Given the description of an element on the screen output the (x, y) to click on. 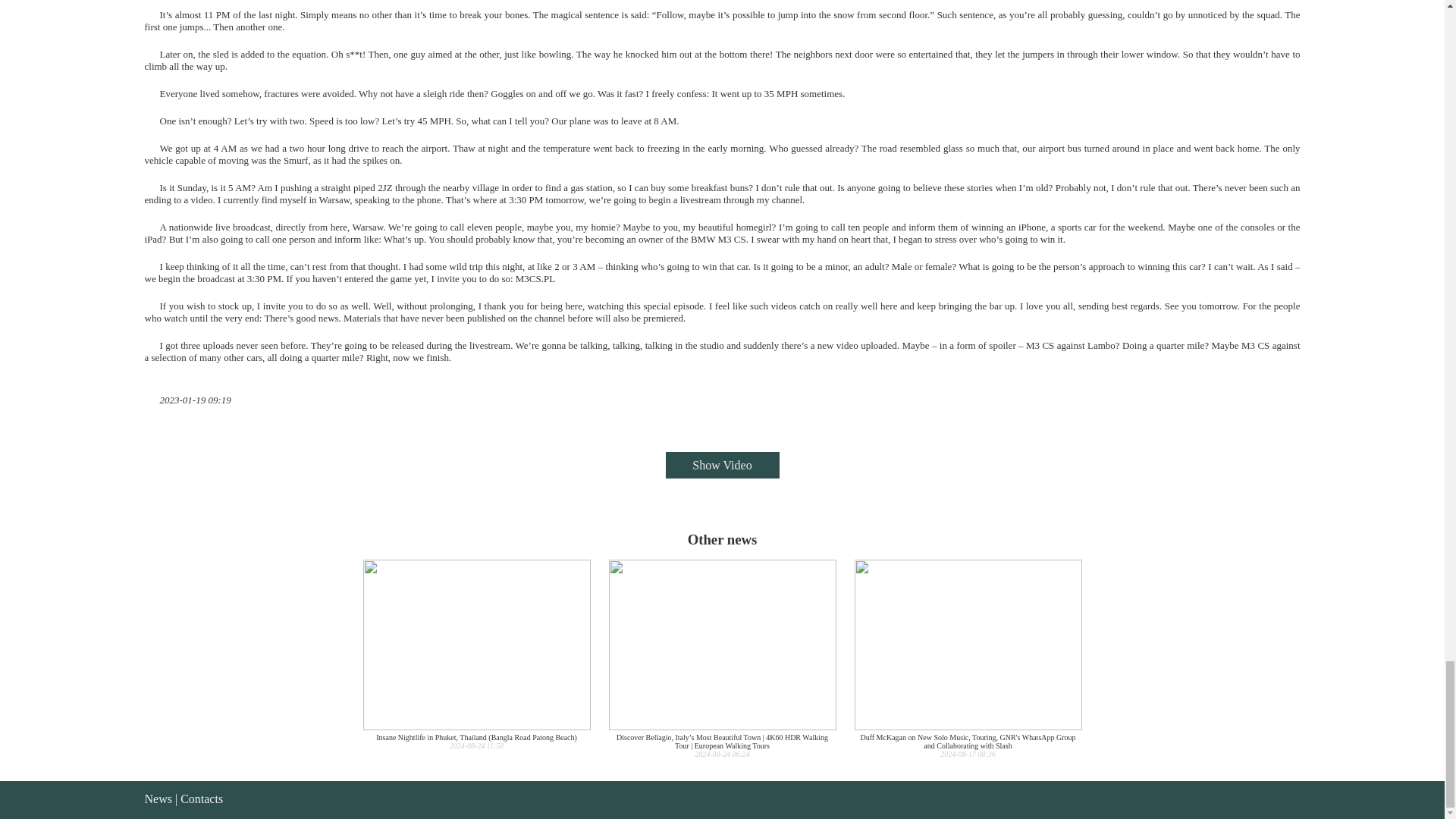
News (157, 798)
Contacts (201, 798)
